Given the description of an element on the screen output the (x, y) to click on. 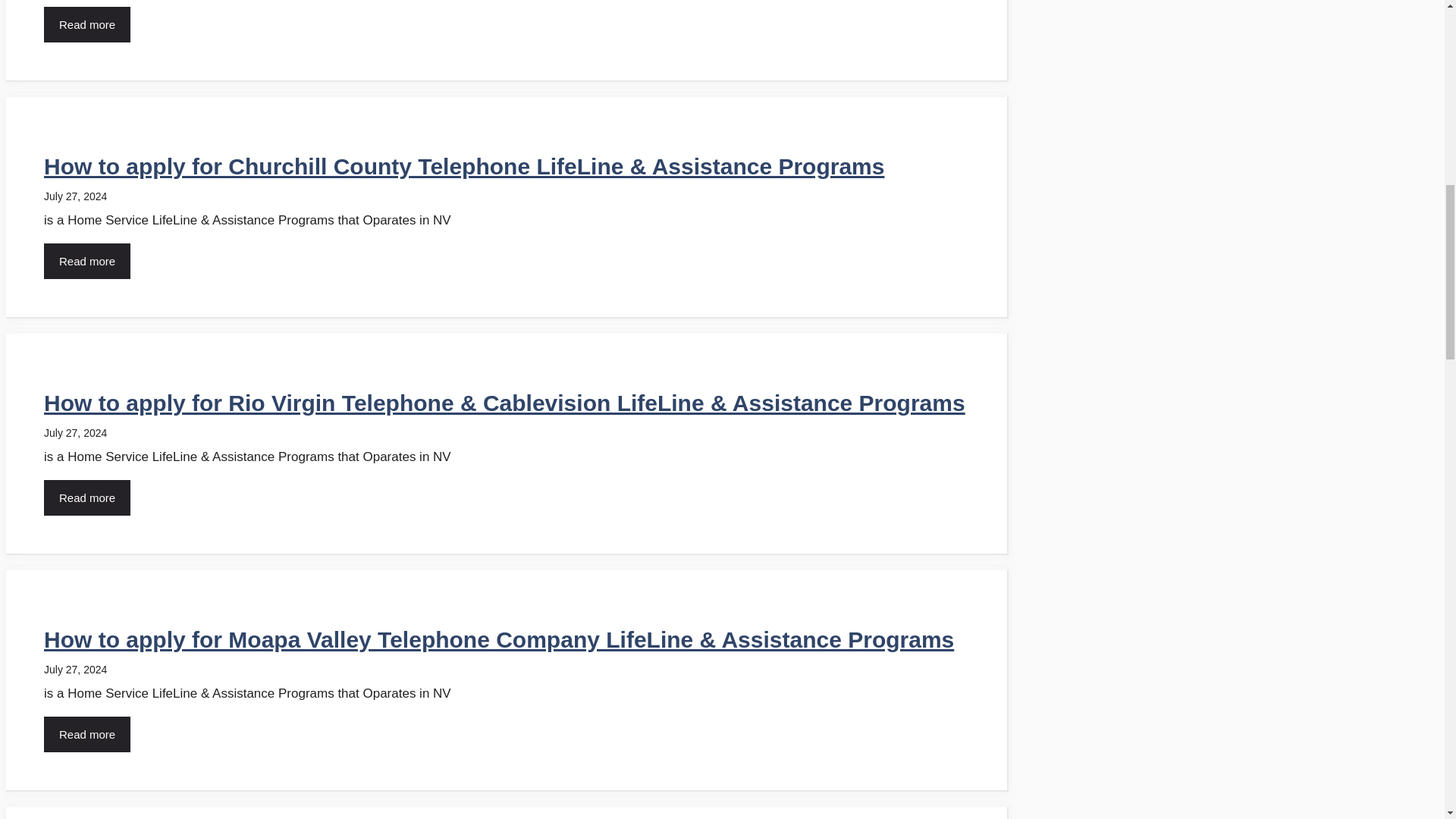
Read more (87, 24)
Read more (87, 261)
Read more (87, 497)
Read more (87, 734)
